Given the description of an element on the screen output the (x, y) to click on. 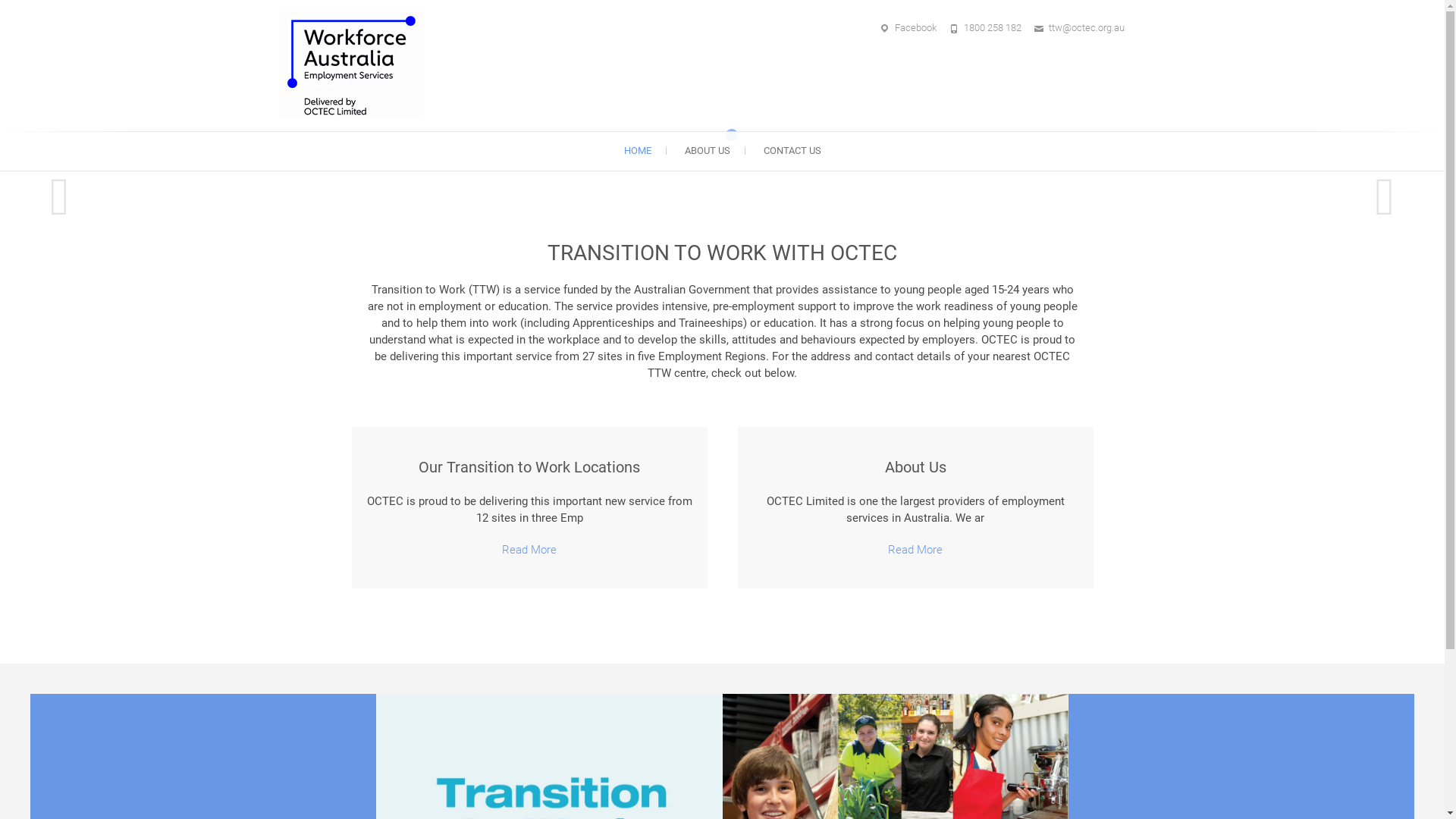
Read More Element type: text (915, 549)
Our Transition to Work Locations Element type: text (529, 467)
Skip to content Element type: text (0, 0)
About Us Element type: text (914, 467)
OCTEC TtW Element type: hover (355, 63)
ABOUT US Element type: text (706, 150)
HOME Element type: text (636, 150)
1 Element type: text (712, 134)
1800 258 182 Element type: text (991, 27)
2 Element type: text (730, 134)
ttw@octec.org.au Element type: text (1085, 27)
Read More Element type: text (529, 549)
CONTACT US Element type: text (791, 150)
Facebook Element type: text (915, 27)
